Given the description of an element on the screen output the (x, y) to click on. 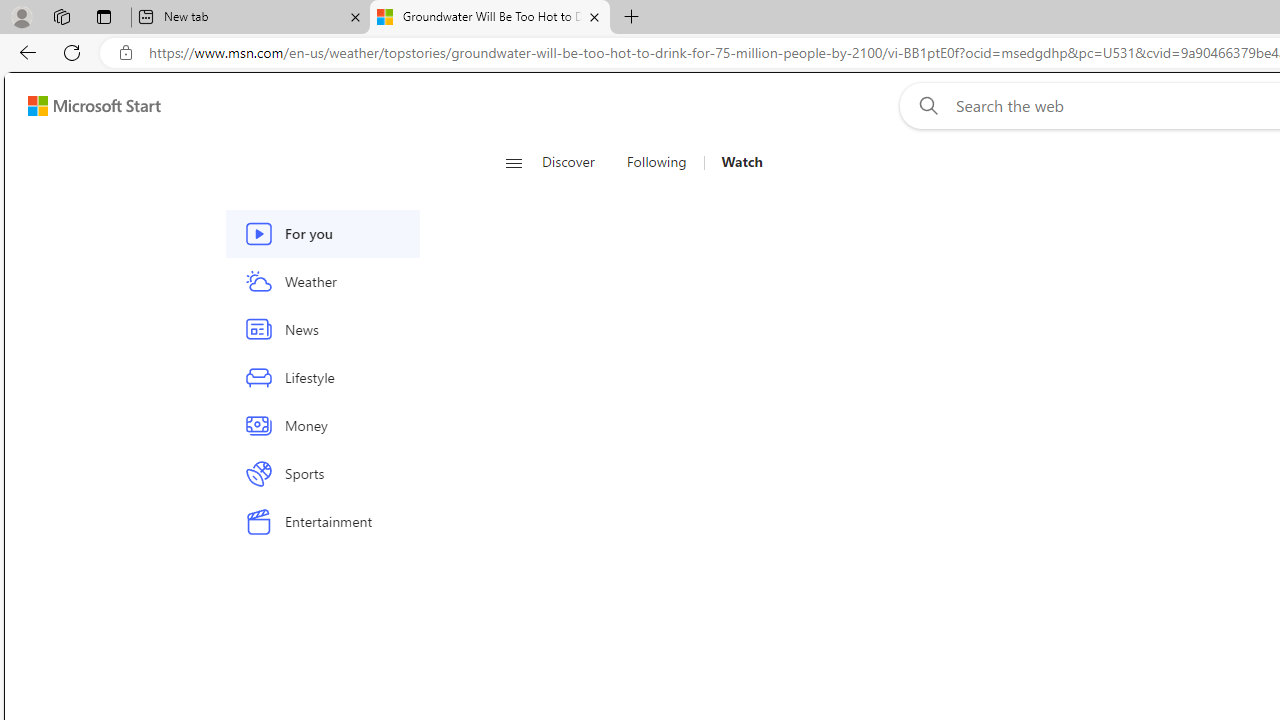
Class: button-glyph (513, 162)
Skip to content (86, 105)
Web search (924, 105)
Skip to footer (82, 105)
